Given the description of an element on the screen output the (x, y) to click on. 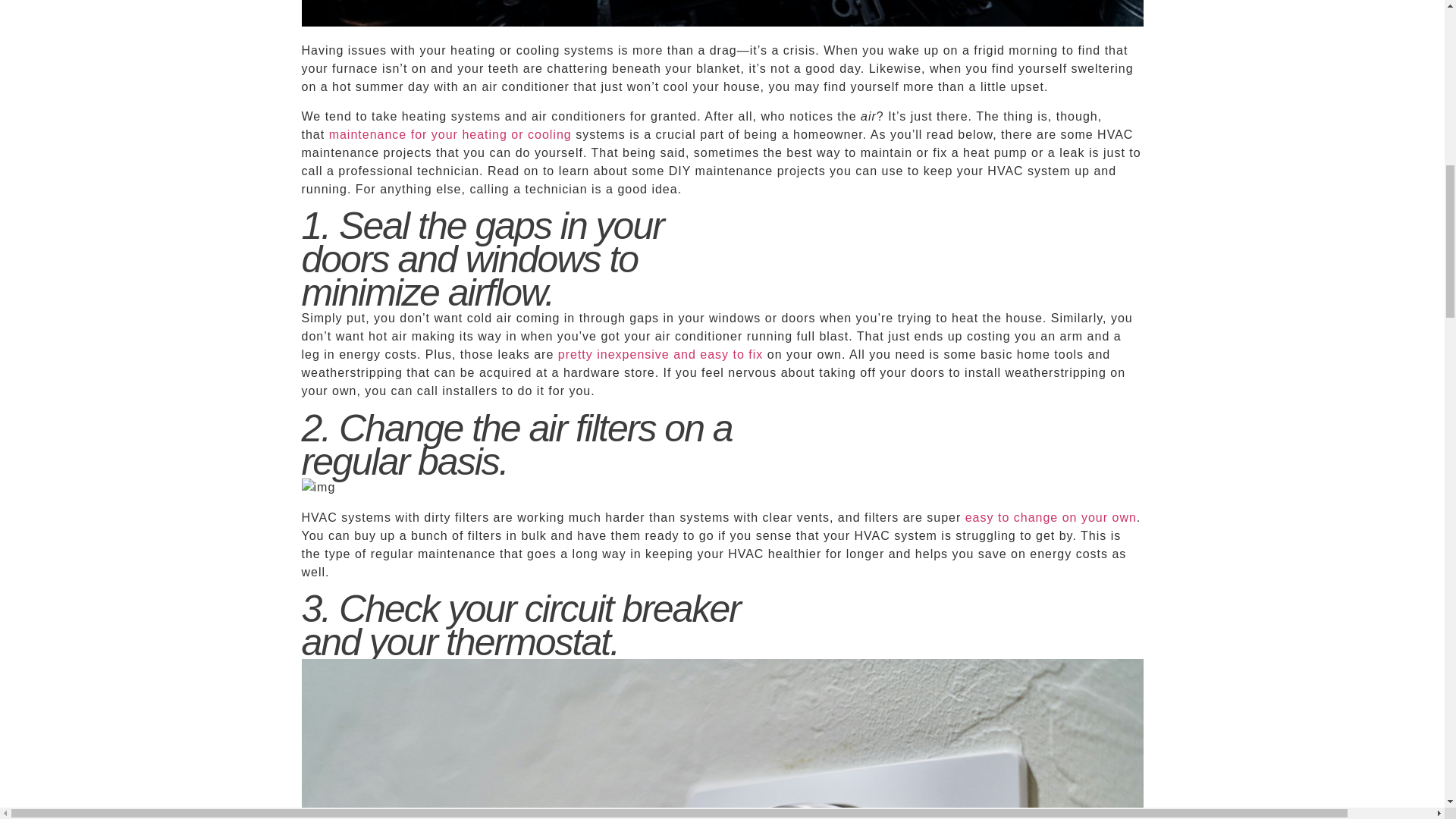
easy to change on your own (1051, 517)
4 Heating and Cooling Repairs You Can DIY 1 (318, 487)
maintenance for your heating or cooling (450, 133)
pretty inexpensive and easy to fix (659, 354)
